Given the description of an element on the screen output the (x, y) to click on. 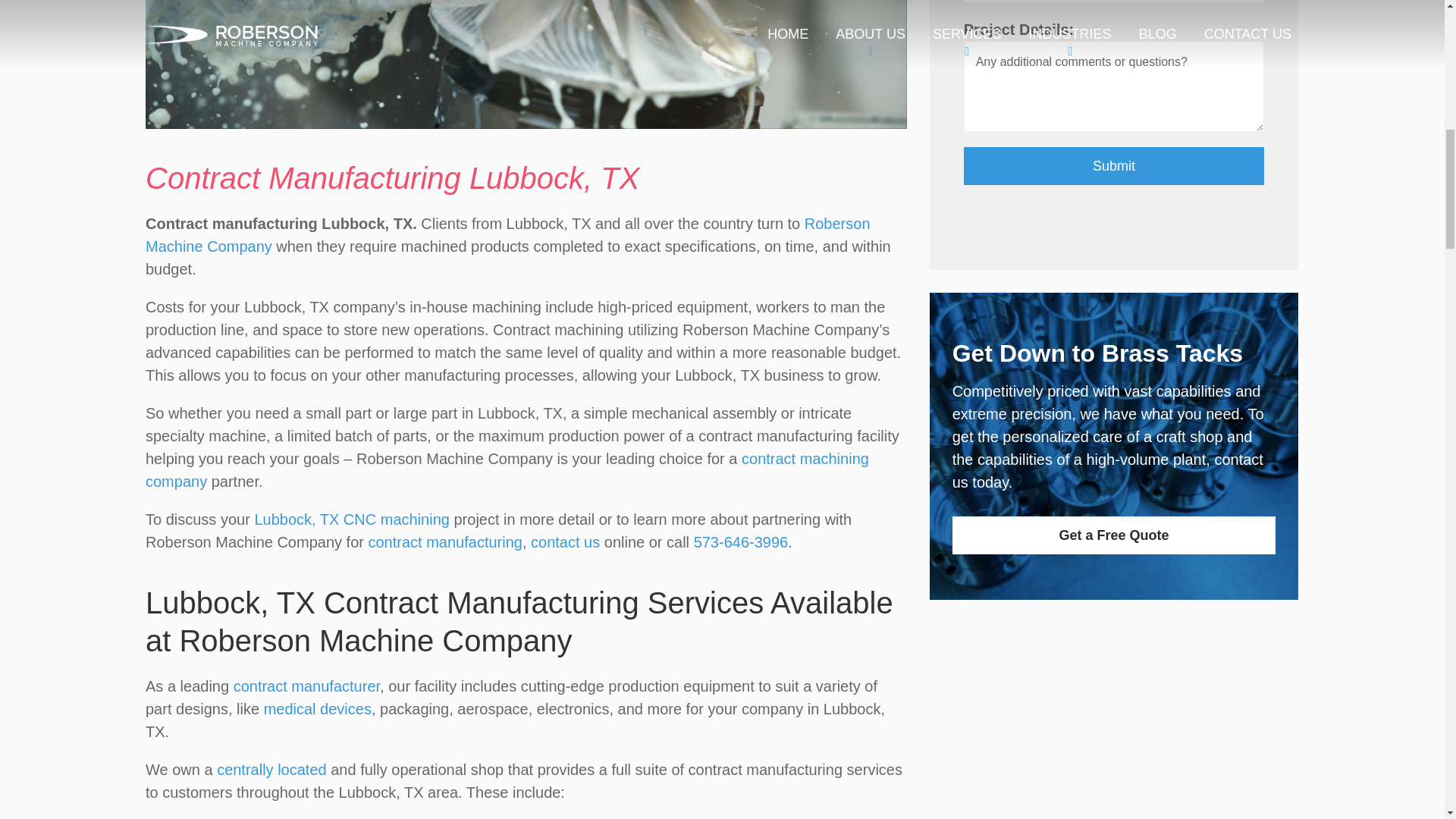
Submit (1114, 166)
Contract Manufacturing Bland, MO - Google (271, 769)
